Given the description of an element on the screen output the (x, y) to click on. 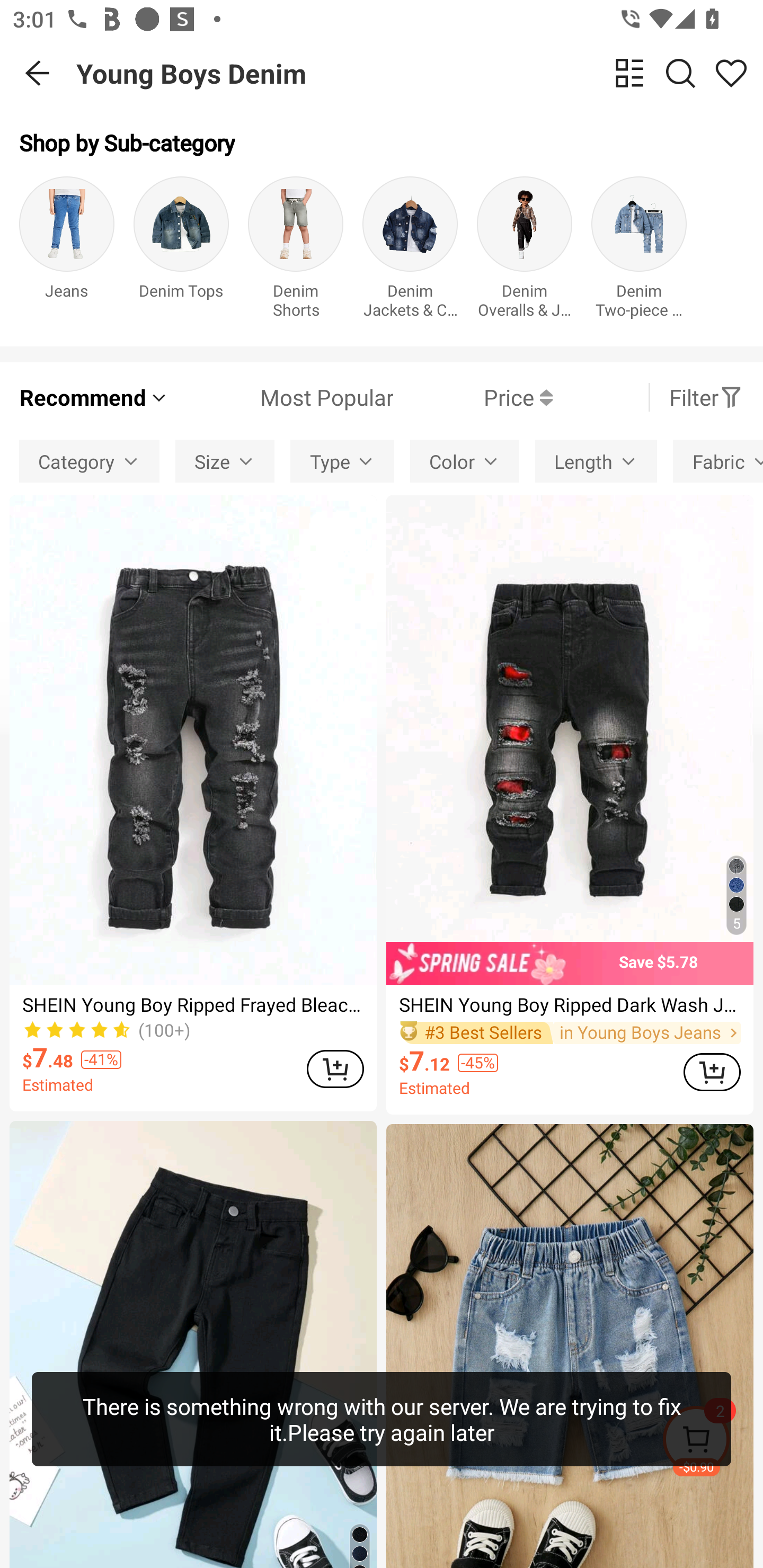
Young Boys Denim change view Search Share (419, 72)
change view (629, 72)
Search (679, 72)
Share (730, 72)
Jeans (66, 251)
Denim Tops (180, 251)
Denim Shorts (295, 251)
Denim Jackets & Coats (409, 251)
Denim Overalls & Jumpsuits (524, 251)
Denim Two-piece Outfits (638, 251)
Recommend (94, 397)
Most Popular (280, 397)
Price (472, 397)
Filter (705, 397)
Category (89, 460)
Size (224, 460)
Type (342, 460)
Color (464, 460)
Length (595, 460)
Fabric (717, 460)
#3 Best Sellers in Young Boys Jeans (569, 1032)
ADD TO CART (334, 1069)
ADD TO CART (711, 1072)
Young Boy Solid Tapered Jeans (192, 1344)
Toddler Boys Ripped Frayed Raw Hem Denim Shorts (569, 1346)
